Given the description of an element on the screen output the (x, y) to click on. 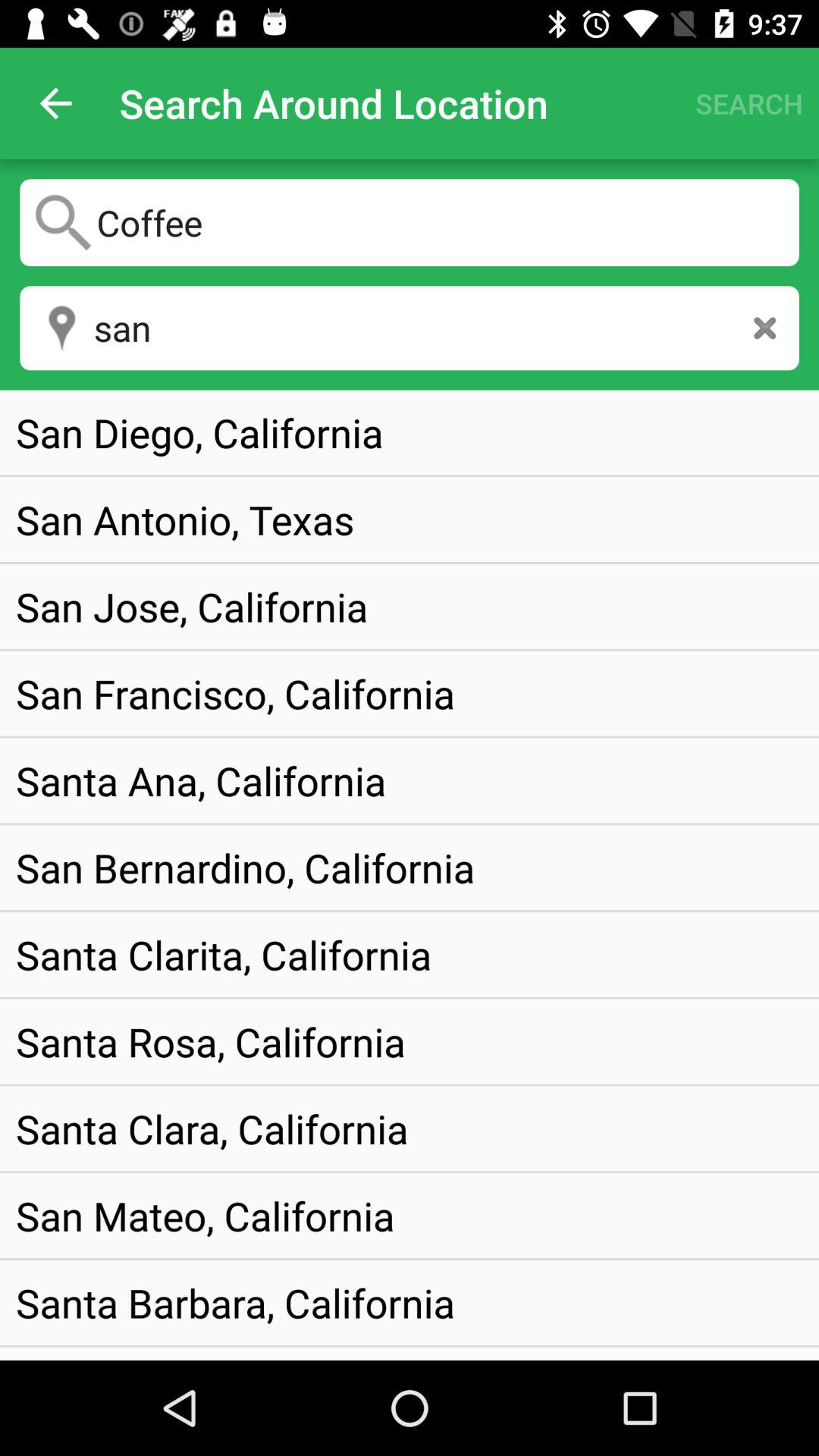
turn on icon above the san (409, 222)
